Given the description of an element on the screen output the (x, y) to click on. 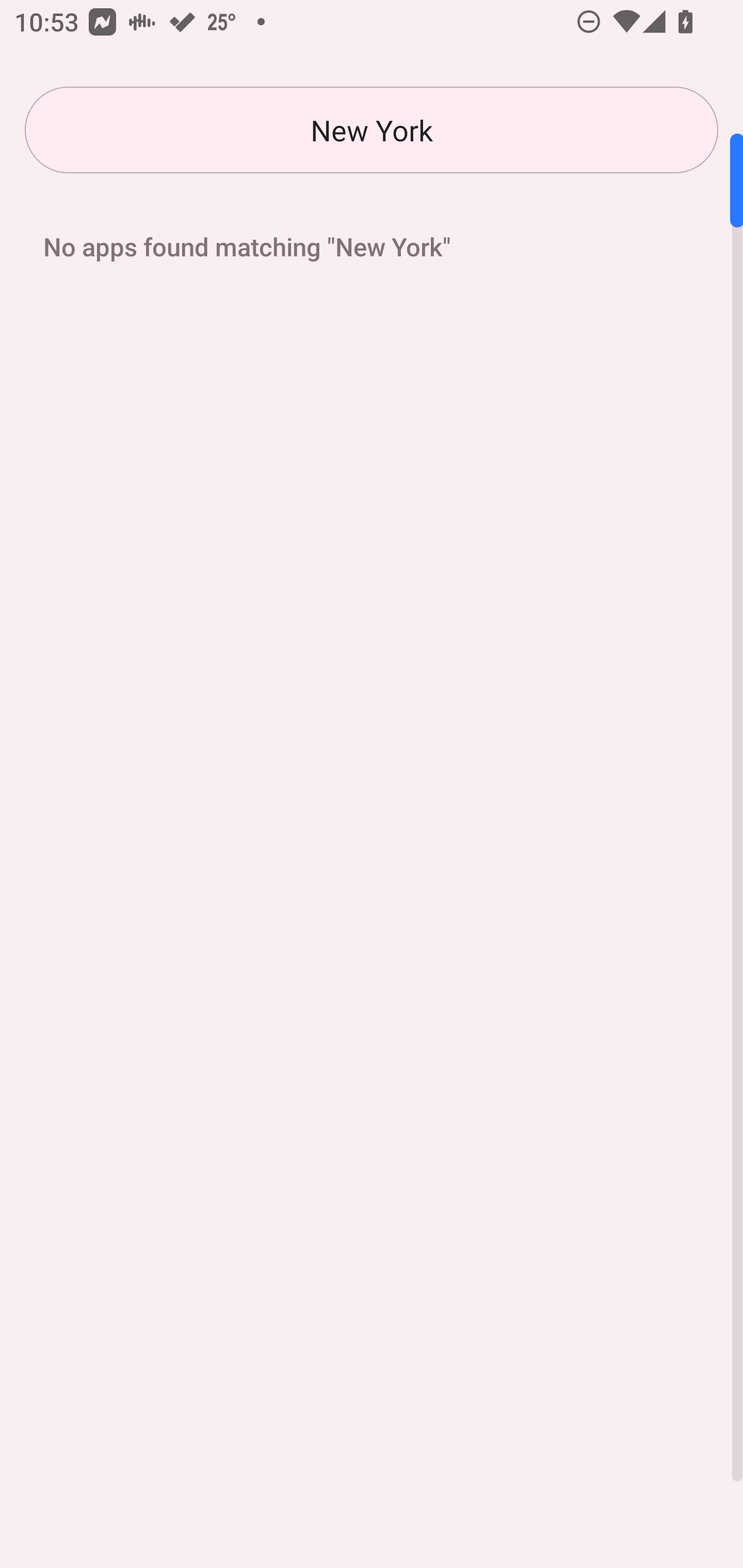
New York (371, 130)
